Given the description of an element on the screen output the (x, y) to click on. 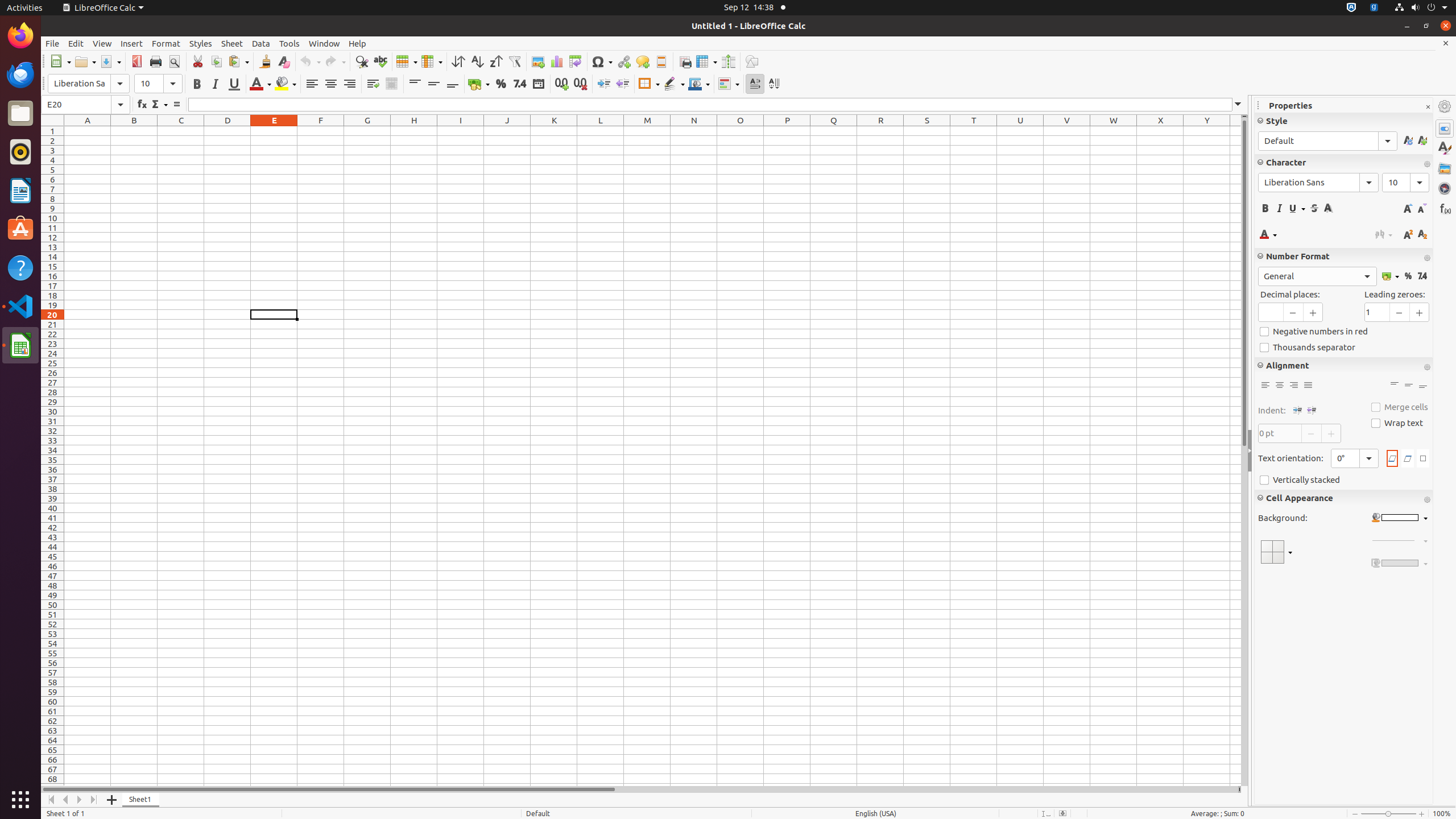
Y1 Element type: table-cell (1206, 130)
Print Preview Element type: toggle-button (173, 61)
LibreOffice Calc Element type: push-button (20, 344)
Data Element type: menu (260, 43)
Cut Element type: push-button (197, 61)
